Given the description of an element on the screen output the (x, y) to click on. 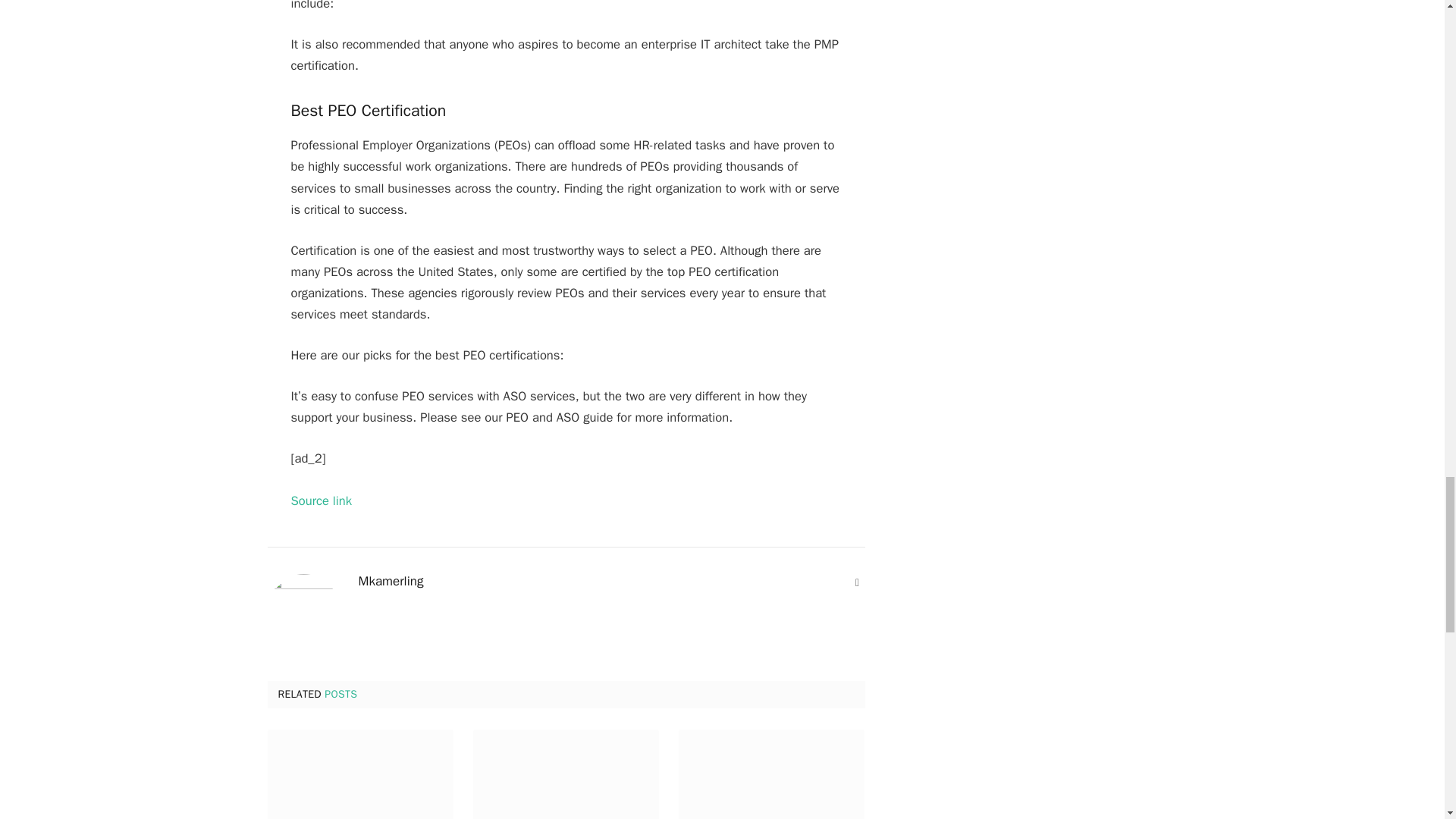
Website (856, 582)
Website (856, 582)
Mkamerling (390, 581)
Source link (321, 500)
Posts by Mkamerling (390, 581)
